Given the description of an element on the screen output the (x, y) to click on. 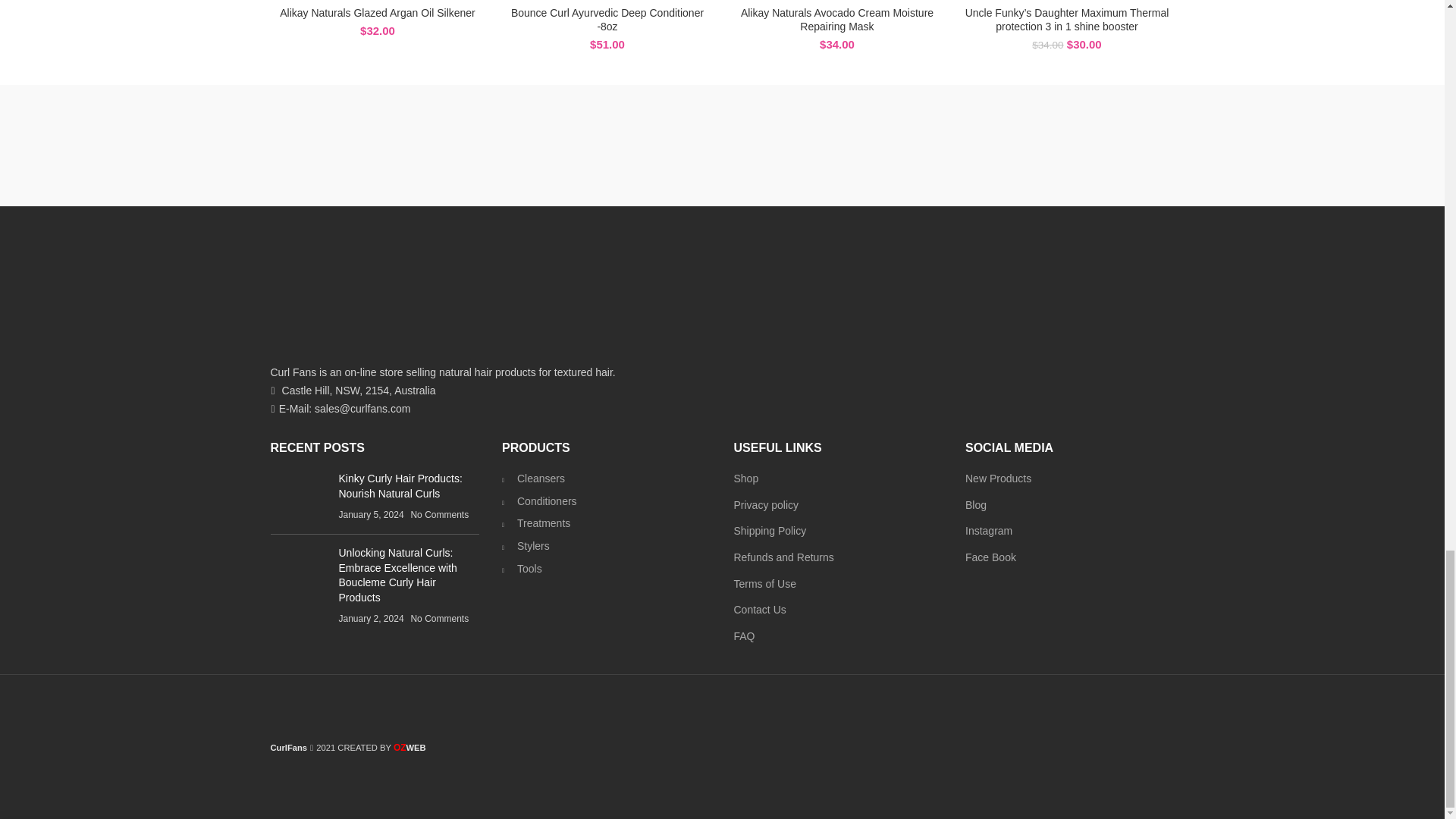
Rawkyn (980, 144)
Uncle Funkys Daughter (334, 144)
Shea Moisture (721, 144)
ShhhSilk (592, 144)
tgin (463, 144)
Righteous Roots (851, 144)
